Given the description of an element on the screen output the (x, y) to click on. 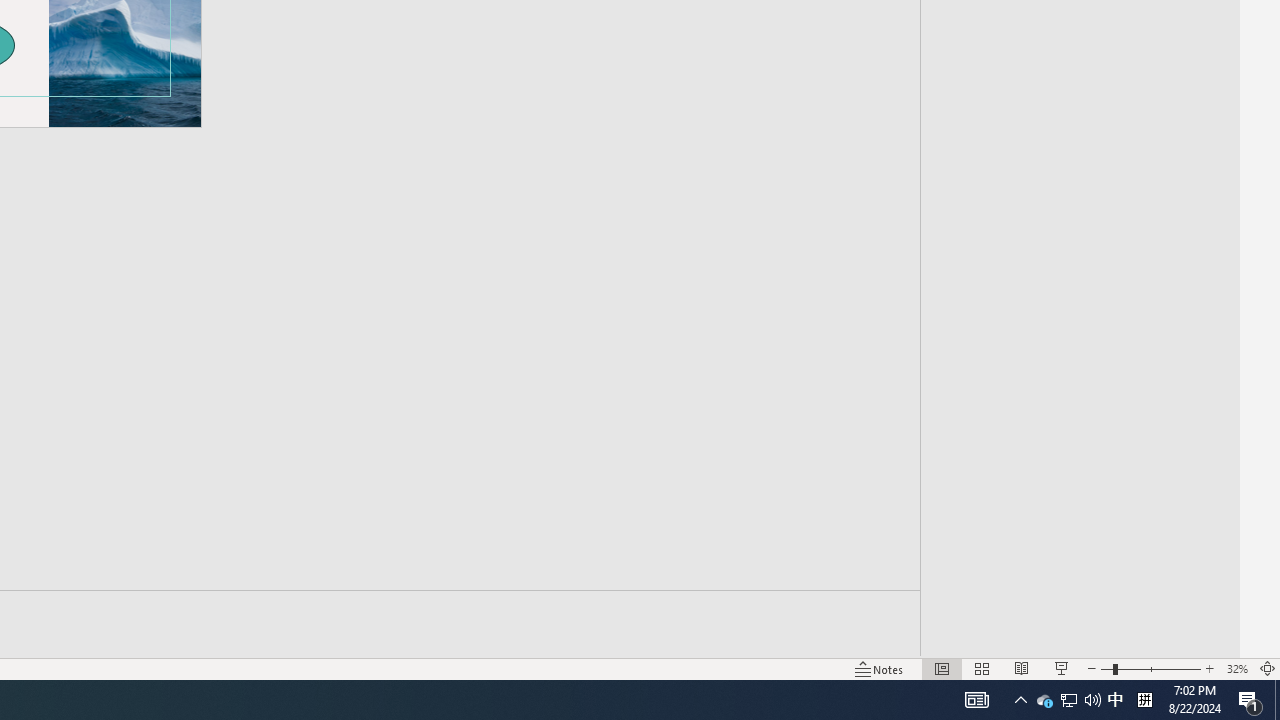
Zoom 32% (1236, 668)
